Given the description of an element on the screen output the (x, y) to click on. 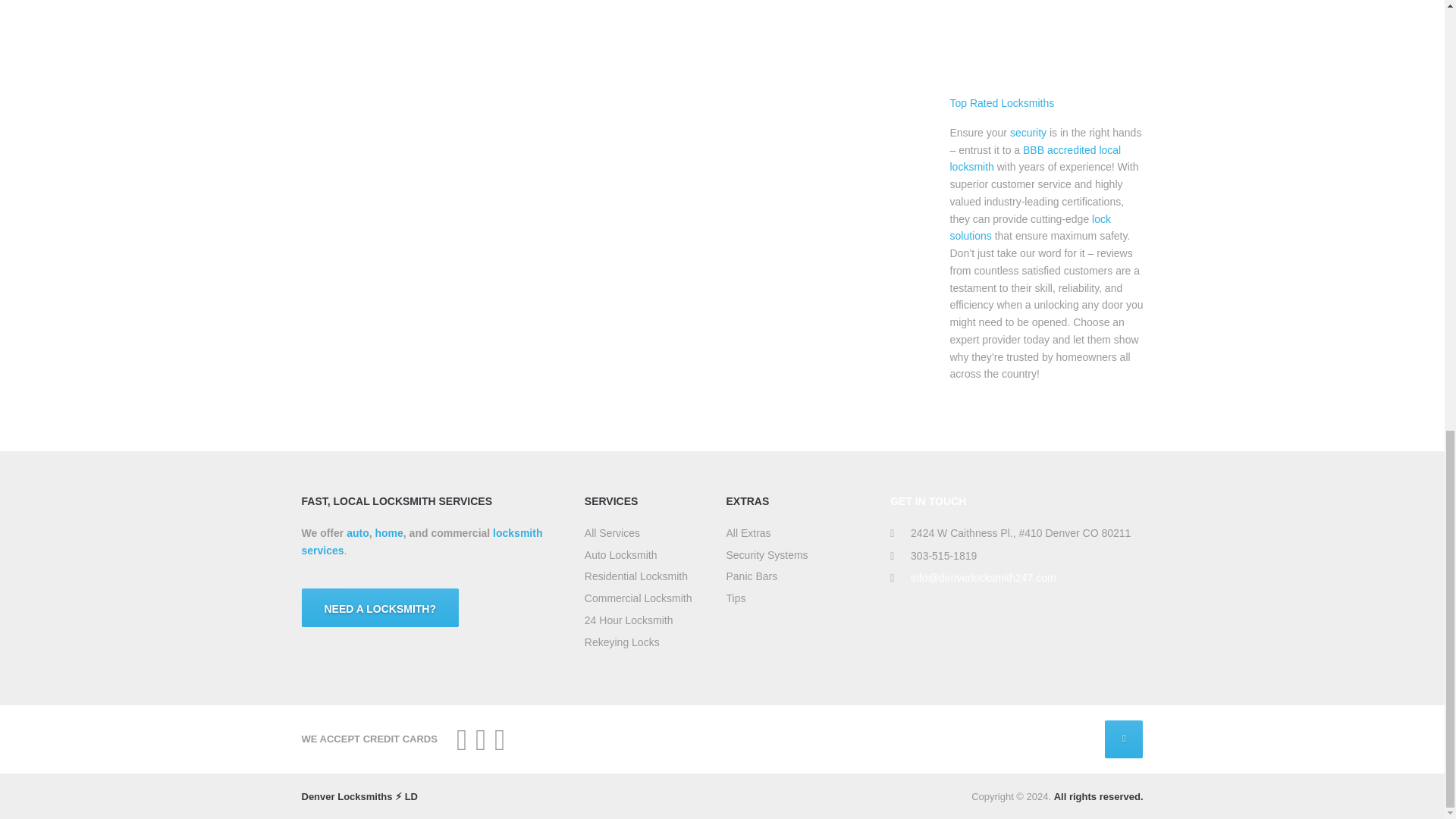
auto (357, 532)
BBB accredited local locksmith (1035, 158)
security (1028, 132)
locksmith services (422, 541)
home (388, 532)
lock solutions (1029, 227)
Top Rated Locksmiths (1001, 102)
